Given the description of an element on the screen output the (x, y) to click on. 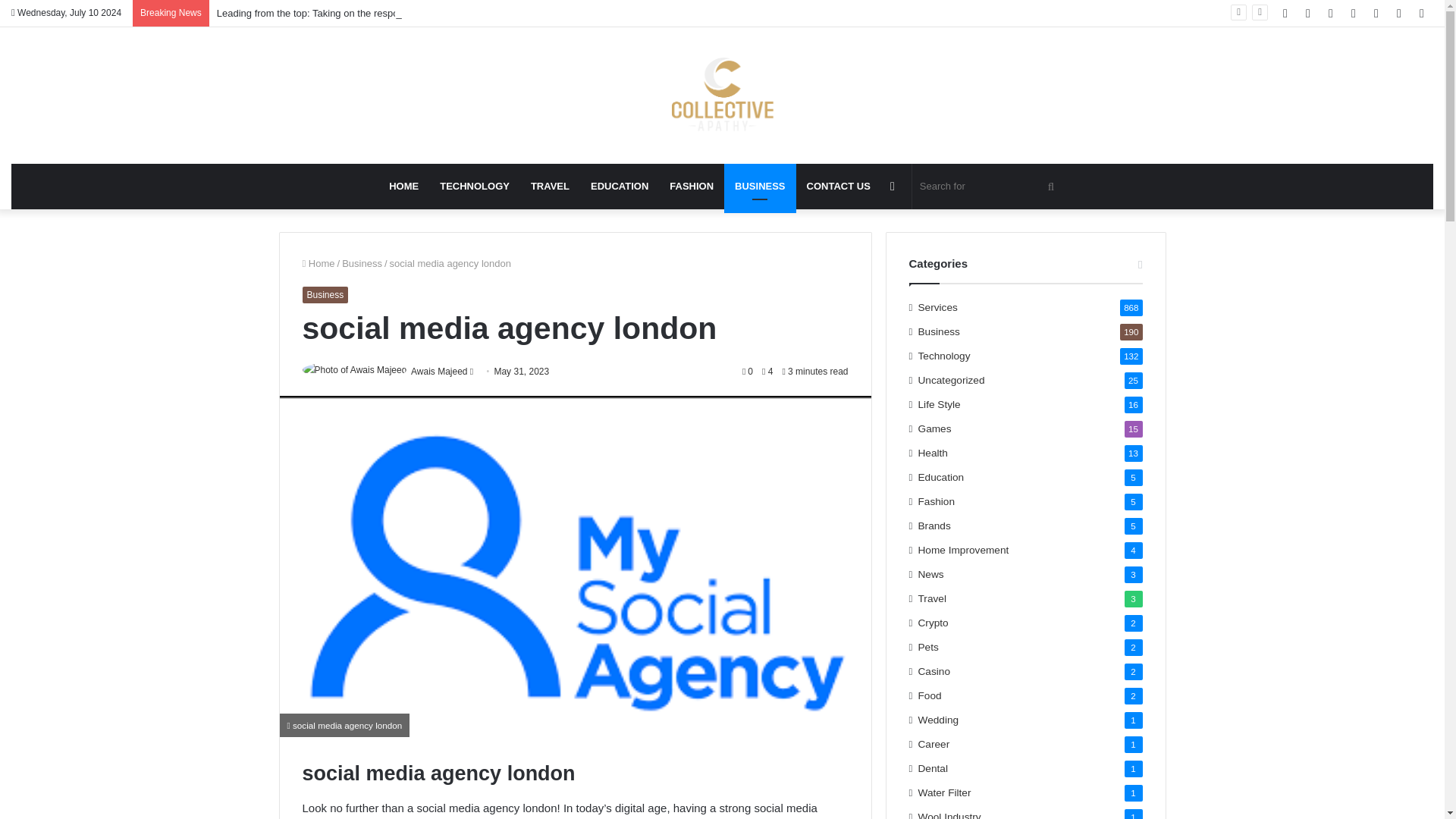
Home (317, 263)
BUSINESS (758, 186)
EDUCATION (619, 186)
CONTACT US (838, 186)
TRAVEL (549, 186)
Search for (988, 186)
collective apathy (721, 95)
Business (324, 294)
FASHION (691, 186)
HOME (403, 186)
TECHNOLOGY (474, 186)
Business (361, 263)
